Given the description of an element on the screen output the (x, y) to click on. 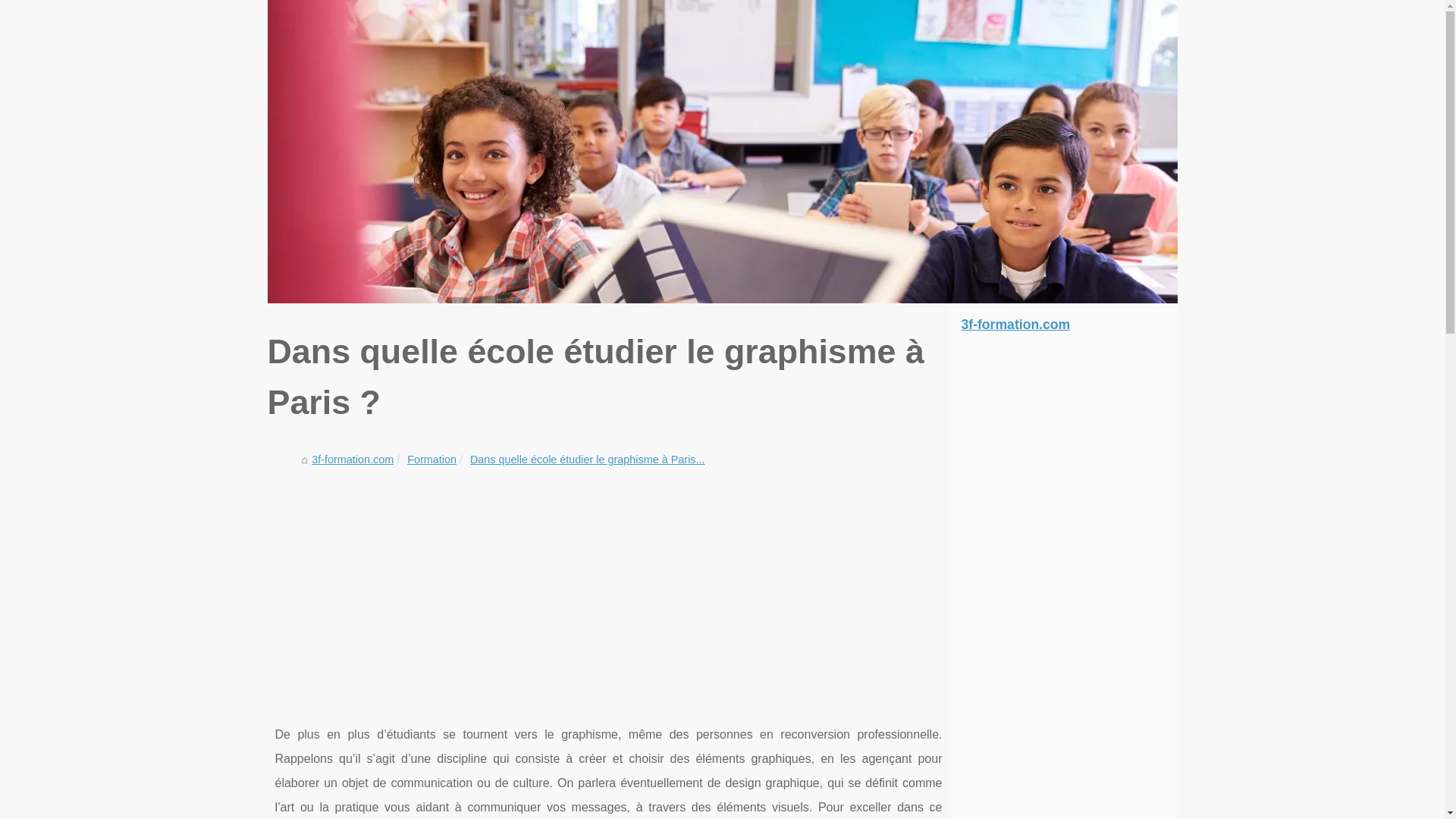
Formation Element type: text (431, 459)
3f-formation.com Element type: text (1063, 324)
Advertisement Element type: hover (1062, 581)
Advertisement Element type: hover (607, 586)
3f-formation.com Element type: text (352, 459)
3f-formation.com Element type: hover (721, 151)
